Given the description of an element on the screen output the (x, y) to click on. 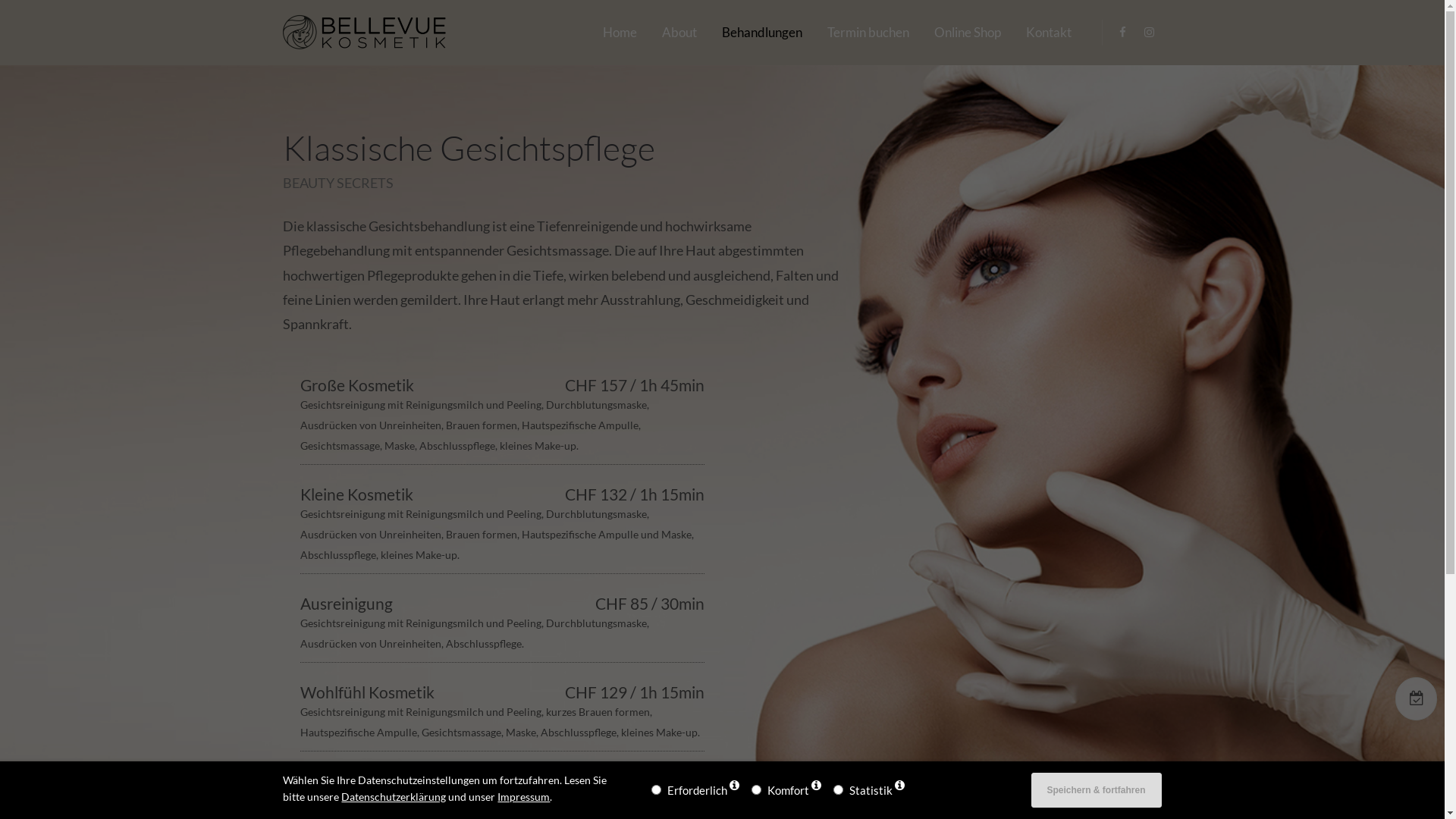
Home Element type: text (619, 32)
Kontakt Element type: text (1047, 32)
Behandlungen Element type: text (761, 32)
Termin buchen Element type: text (867, 32)
Impressum Element type: text (523, 796)
Online Shop Element type: text (967, 32)
About Element type: text (678, 32)
Online Booking Element type: hover (1416, 698)
Speichern & fortfahren Element type: text (1096, 789)
